Given the description of an element on the screen output the (x, y) to click on. 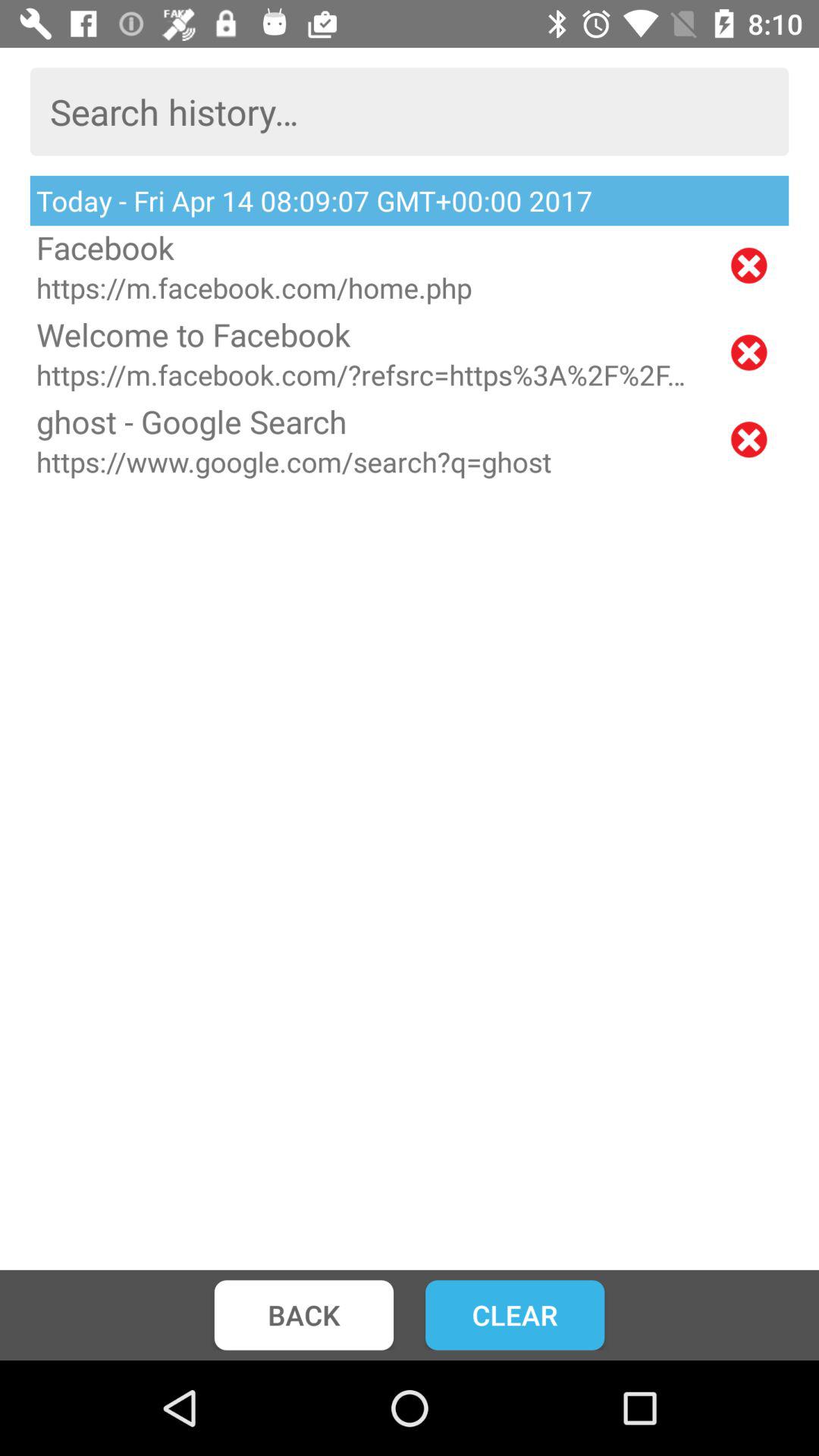
choose the item above the today fri apr icon (409, 111)
